Given the description of an element on the screen output the (x, y) to click on. 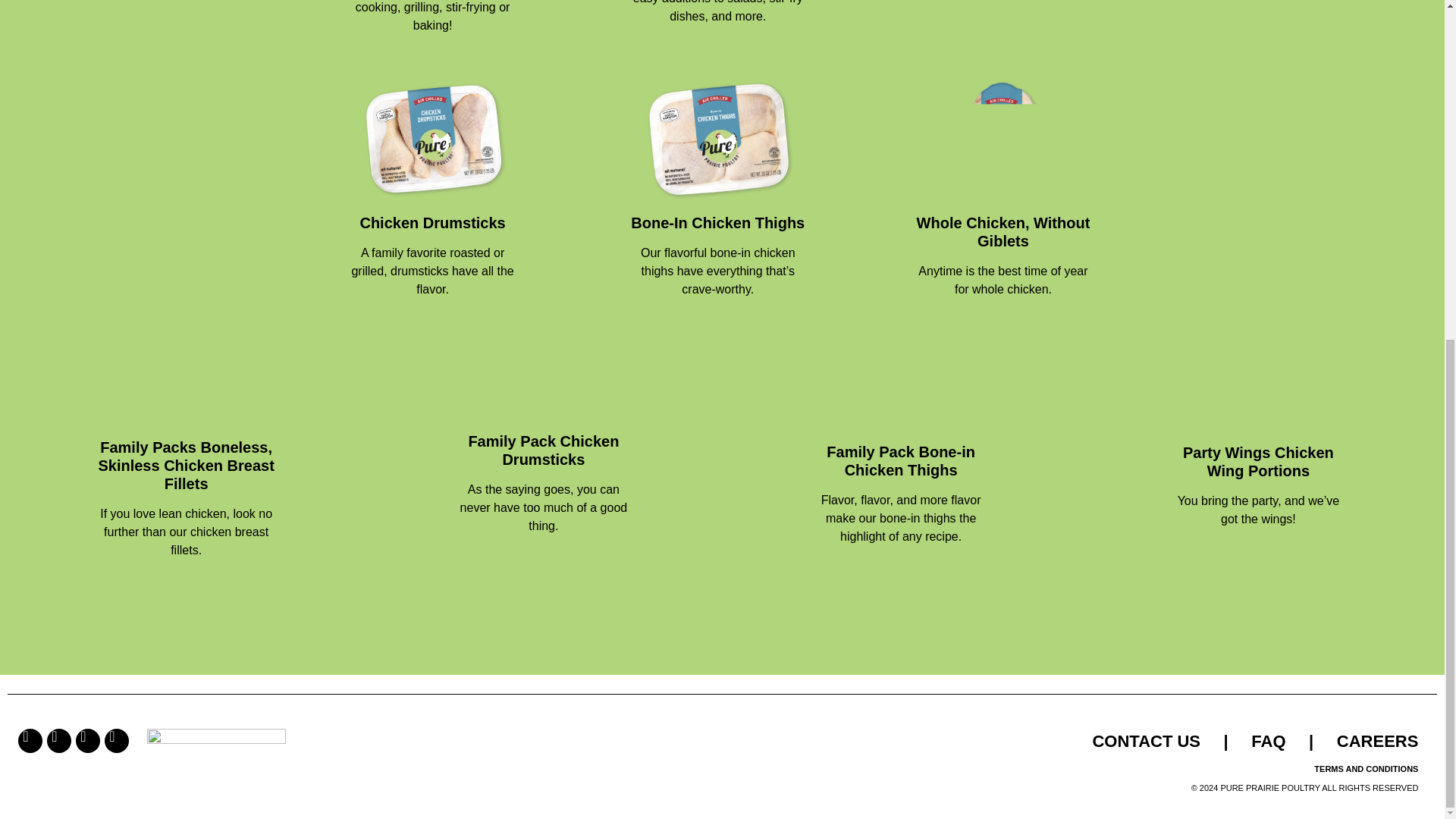
FAQ (1267, 741)
CONTACT US (1145, 741)
TERMS AND CONDITIONS (1366, 768)
CAREERS (1377, 741)
